Given the description of an element on the screen output the (x, y) to click on. 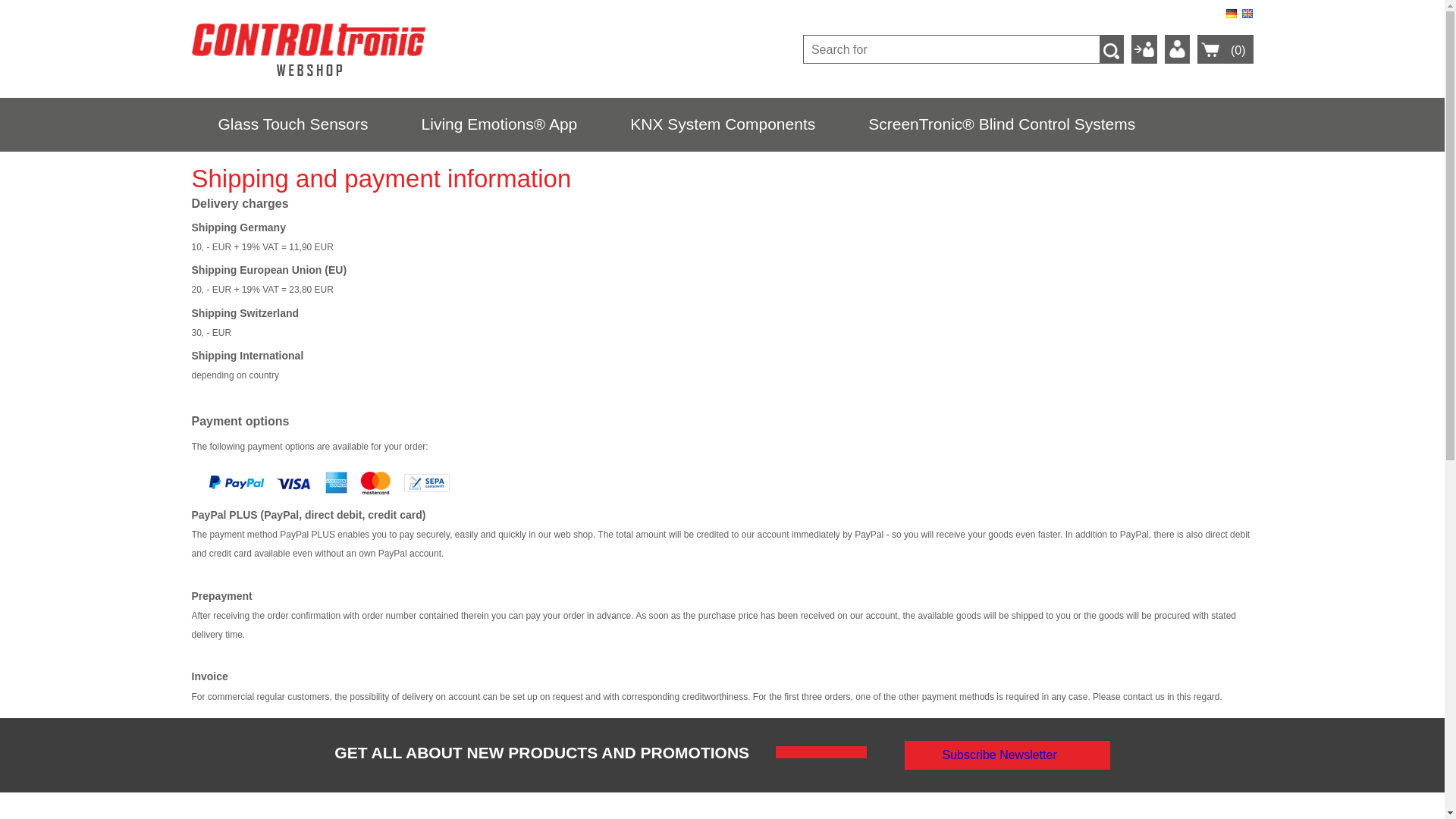
Glass Touch Sensors (292, 123)
Sign in (1144, 49)
KNX System Components (722, 123)
Zum Kundenkonto (1176, 49)
